Given the description of an element on the screen output the (x, y) to click on. 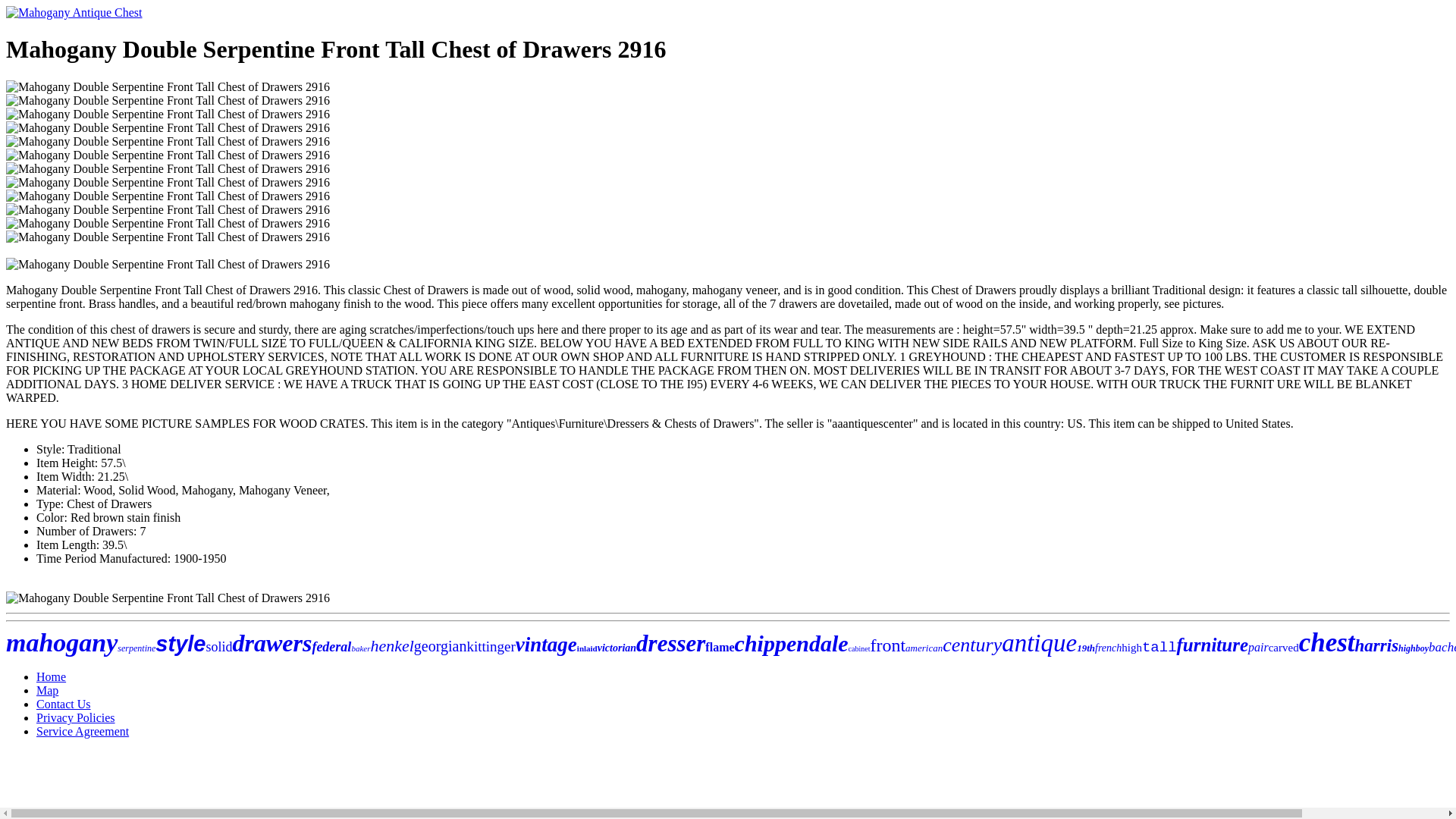
vintage (545, 644)
Mahogany Double Serpentine Front Tall Chest of Drawers 2916 (167, 182)
Mahogany Double Serpentine Front Tall Chest of Drawers 2916 (167, 169)
style (180, 643)
solid (218, 646)
baker (359, 647)
georgian (440, 646)
Mahogany Double Serpentine Front Tall Chest of Drawers 2916 (167, 141)
Mahogany Double Serpentine Front Tall Chest of Drawers 2916 (167, 237)
pair (1257, 646)
Mahogany Double Serpentine Front Tall Chest of Drawers 2916 (167, 87)
Mahogany Double Serpentine Front Tall Chest of Drawers 2916 (167, 155)
Mahogany Double Serpentine Front Tall Chest of Drawers 2916 (167, 598)
century (971, 644)
federal (330, 646)
